Given the description of an element on the screen output the (x, y) to click on. 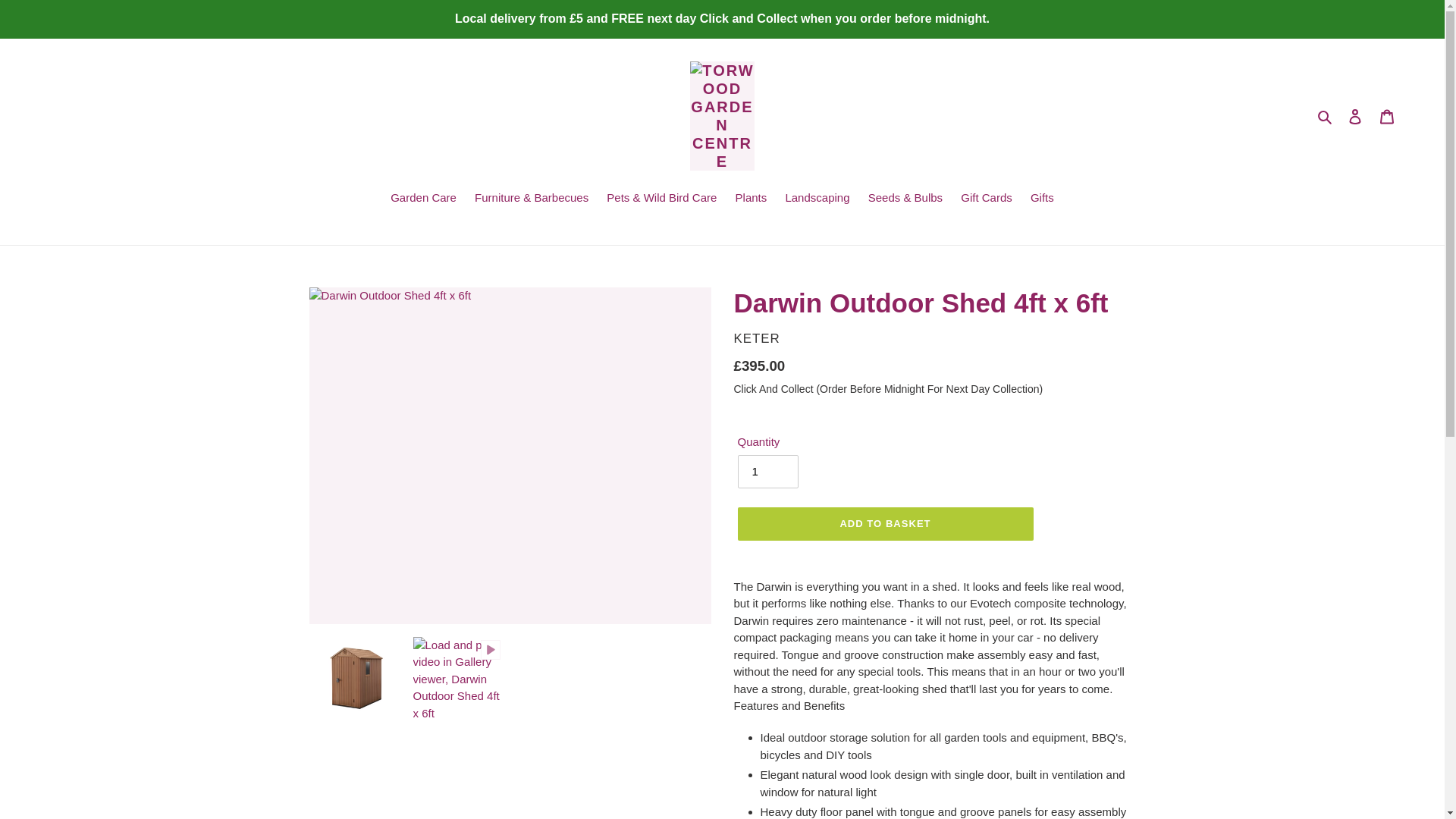
1 (766, 471)
Search (1326, 116)
Log in (1355, 115)
Cart (1387, 115)
